Given the description of an element on the screen output the (x, y) to click on. 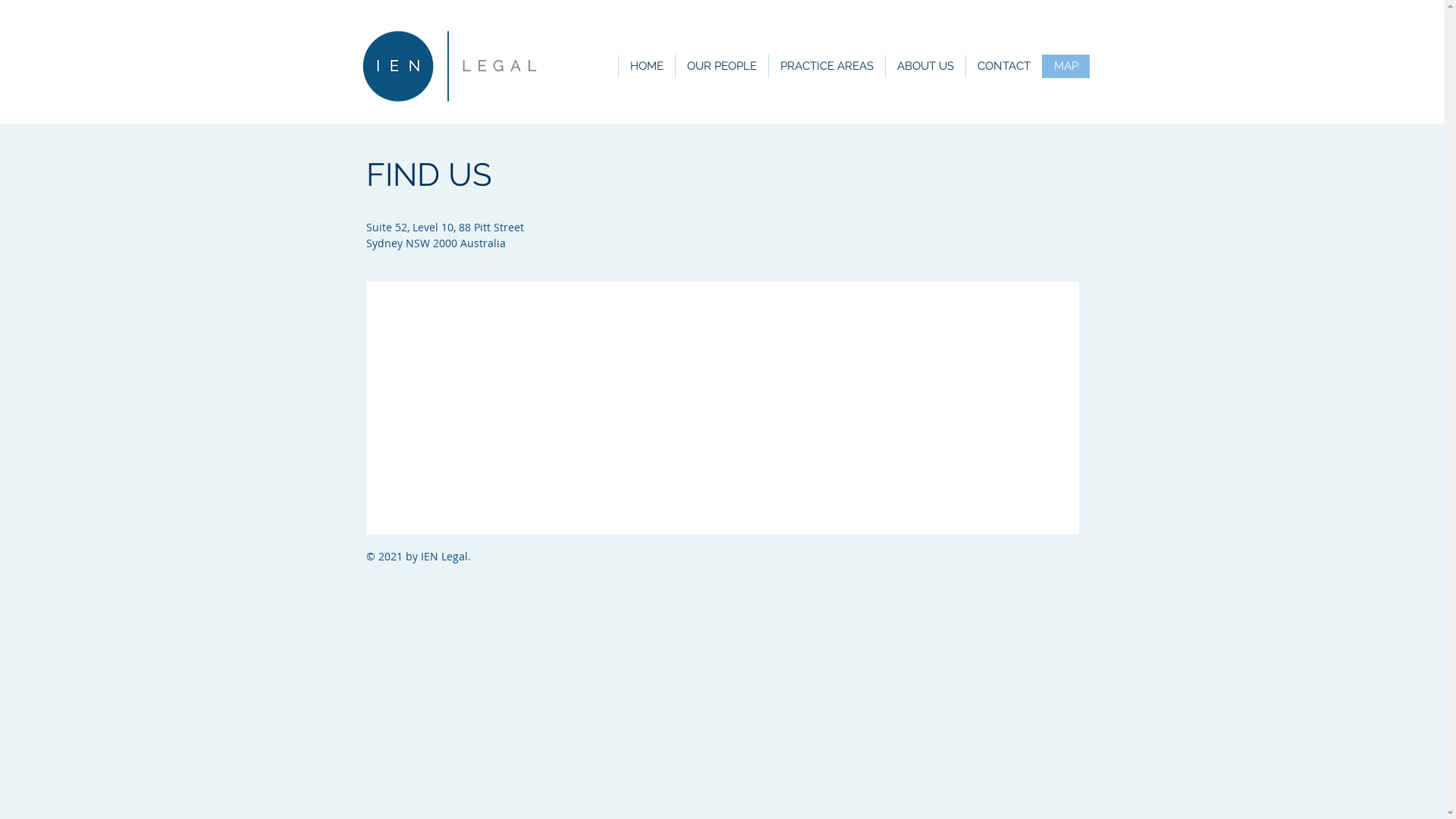
HOME Element type: text (645, 66)
OUR PEOPLE Element type: text (721, 66)
Google Maps Element type: hover (722, 407)
ABOUT US Element type: text (924, 66)
PRACTICE AREAS Element type: text (825, 66)
CONTACT Element type: text (1002, 66)
MAP Element type: text (1065, 66)
